Given the description of an element on the screen output the (x, y) to click on. 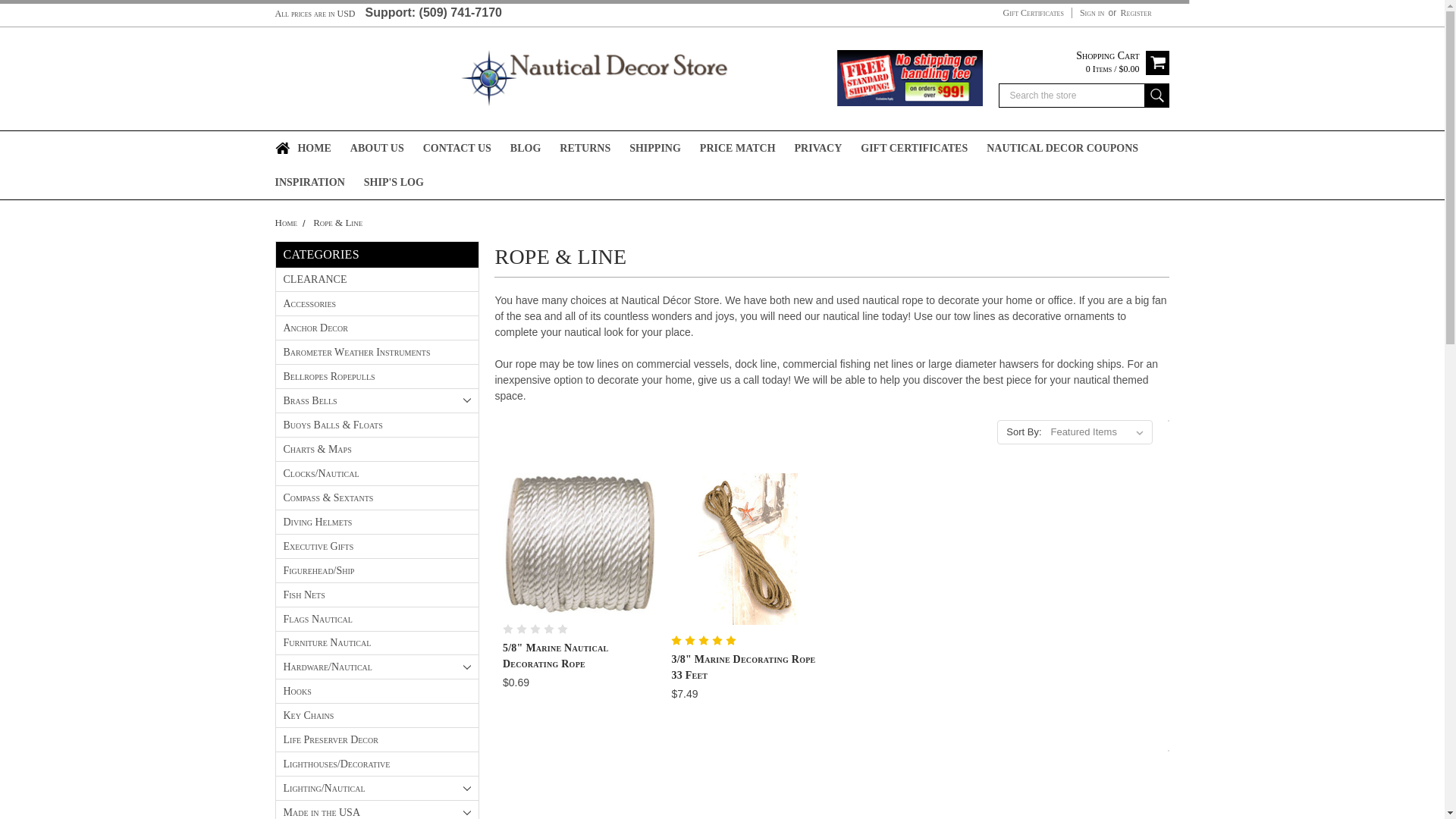
Submit (1156, 95)
Gift Certificates (1033, 12)
Submit (1156, 95)
Nautical Decor Store (721, 77)
Sign in (1091, 12)
Register (1136, 12)
